Given the description of an element on the screen output the (x, y) to click on. 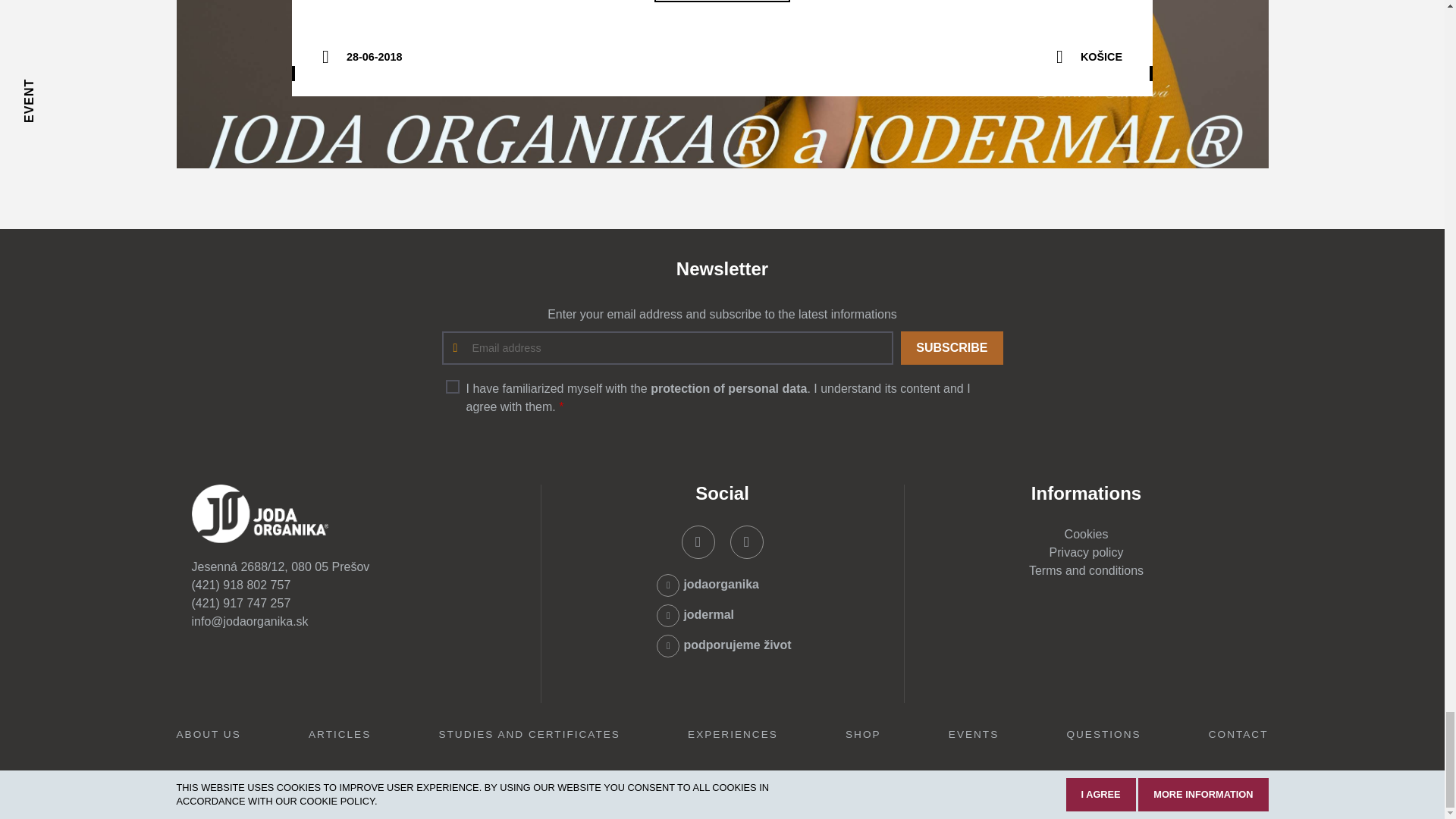
Subscribe (952, 347)
